Given the description of an element on the screen output the (x, y) to click on. 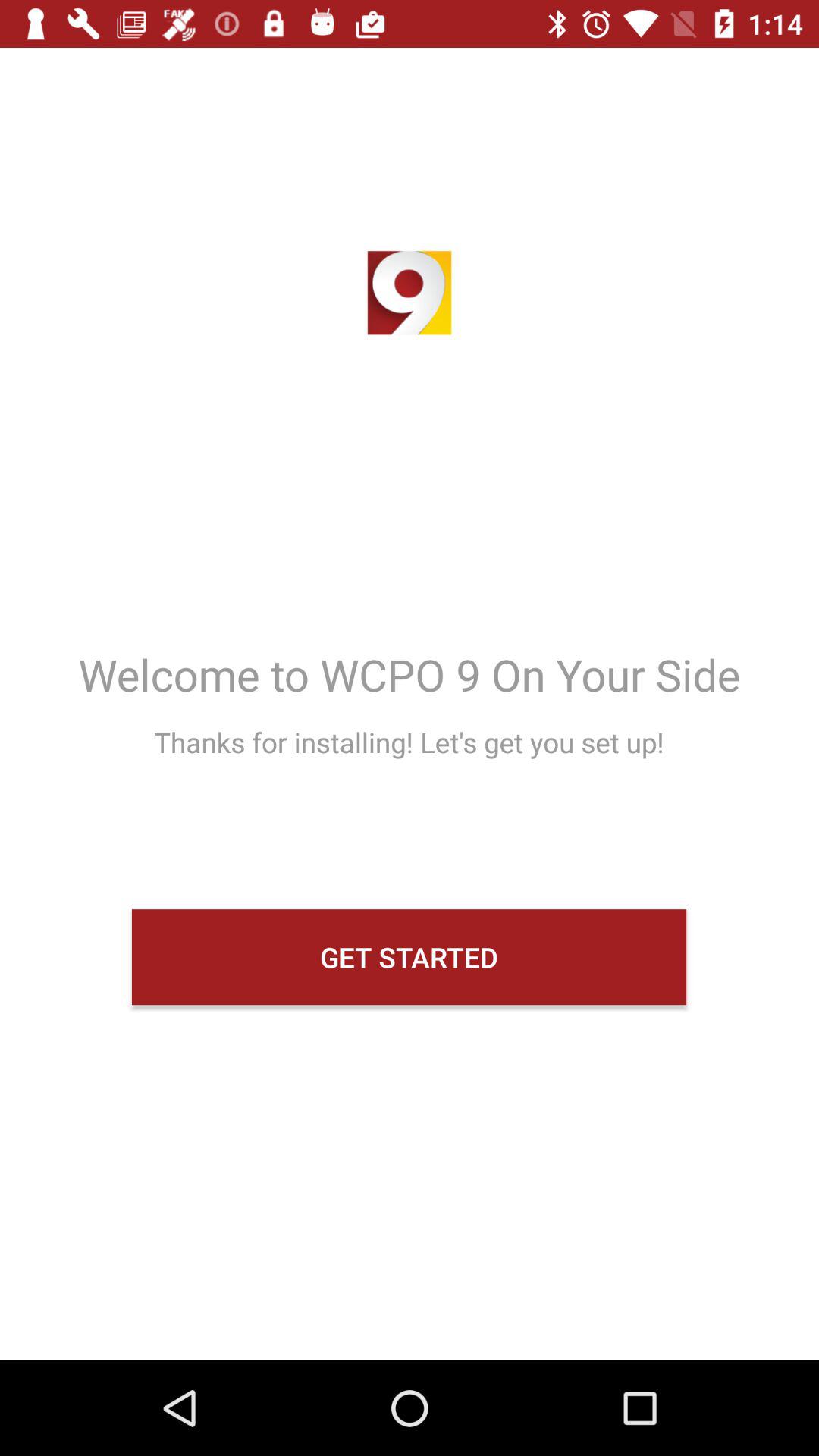
select item below thanks for installing (408, 956)
